Given the description of an element on the screen output the (x, y) to click on. 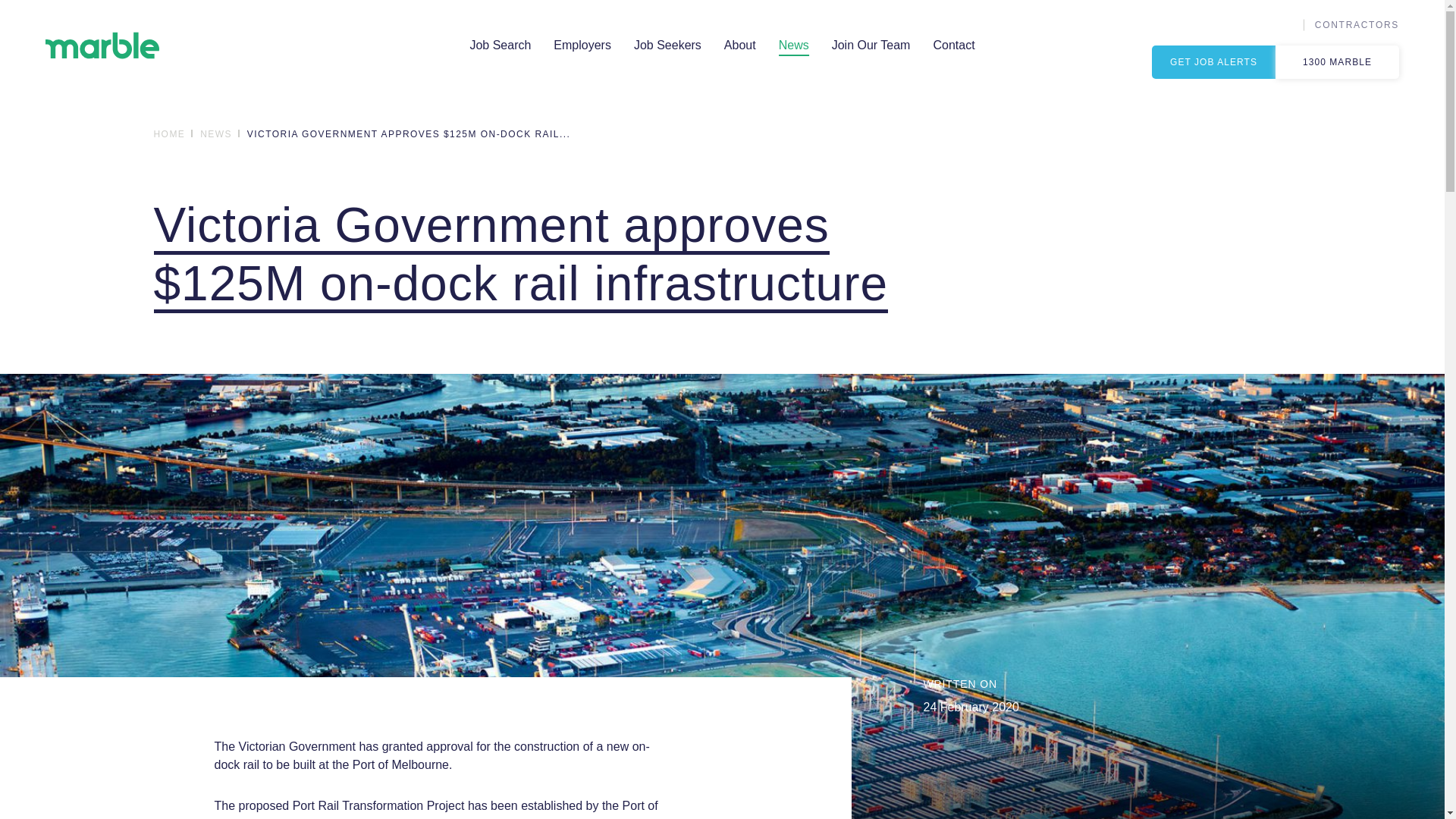
GET JOB ALERTS (1213, 61)
HOME (171, 134)
Job Seekers (668, 45)
Job Search (499, 45)
About (740, 45)
News (794, 45)
Join Our Team (871, 45)
CONTRACTORS (1357, 24)
Contact (953, 45)
Employers (582, 45)
